Given the description of an element on the screen output the (x, y) to click on. 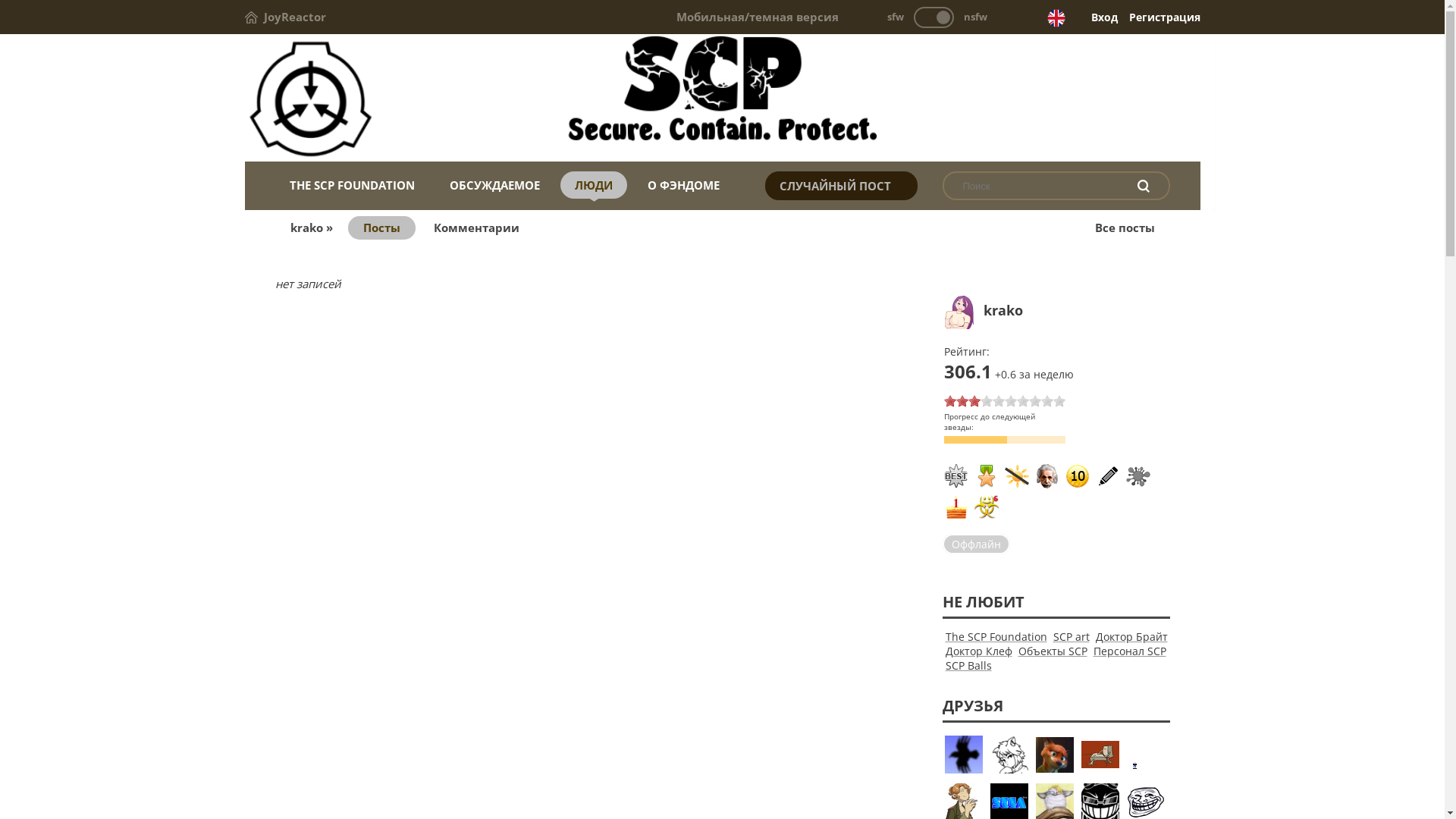
THE SCP FOUNDATION Element type: text (351, 184)
The SCP Foundation Element type: text (995, 636)
DeKonager Element type: hover (1054, 756)
English version Element type: hover (1055, 18)
corax4 Element type: hover (963, 754)
rudar777 Element type: hover (1100, 759)
SCP art Element type: text (1070, 636)
hl2hl2 Element type: hover (1009, 754)
JoyReactor Element type: text (284, 17)
Drosselmayer Element type: hover (1145, 754)
SCP Balls Element type: text (967, 665)
The SCP Foundation Element type: text (721, 98)
